Given the description of an element on the screen output the (x, y) to click on. 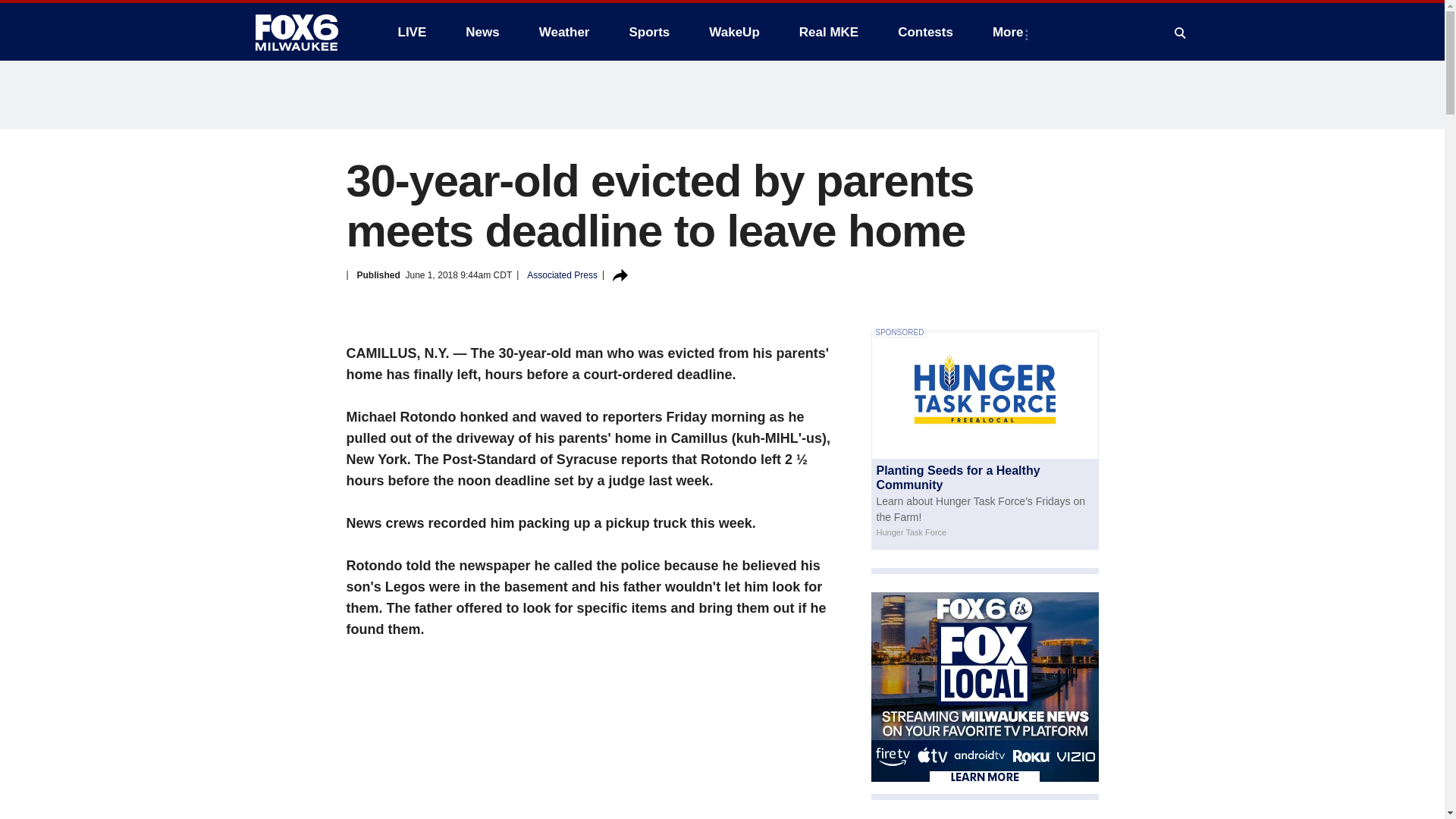
Real MKE (828, 32)
News (481, 32)
Sports (648, 32)
Contests (925, 32)
Weather (564, 32)
More (1010, 32)
LIVE (411, 32)
WakeUp (734, 32)
